Given the description of an element on the screen output the (x, y) to click on. 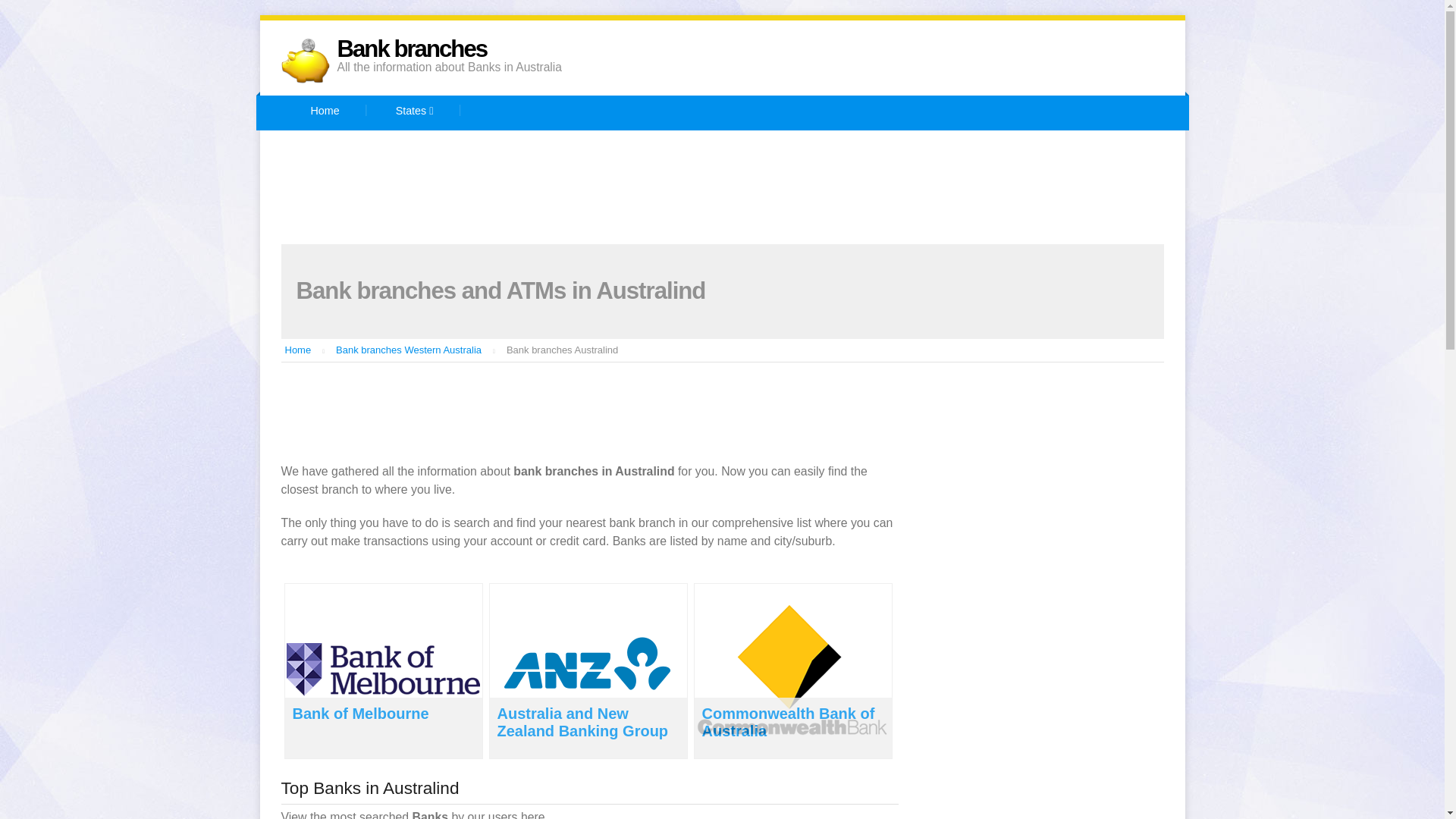
Bank of Melbourne (889, 149)
Commonwealth Bank of Australia (416, 187)
Bank of Melbourne (889, 149)
St.George Bank (1064, 187)
Bank of Melbourne (360, 713)
Heritage Building Society (740, 187)
Australia and New Zealand Banking Group (582, 722)
Suncorp-Metway (377, 224)
Commonwealth Bank of Australia (788, 722)
Bank branches (411, 49)
